Given the description of an element on the screen output the (x, y) to click on. 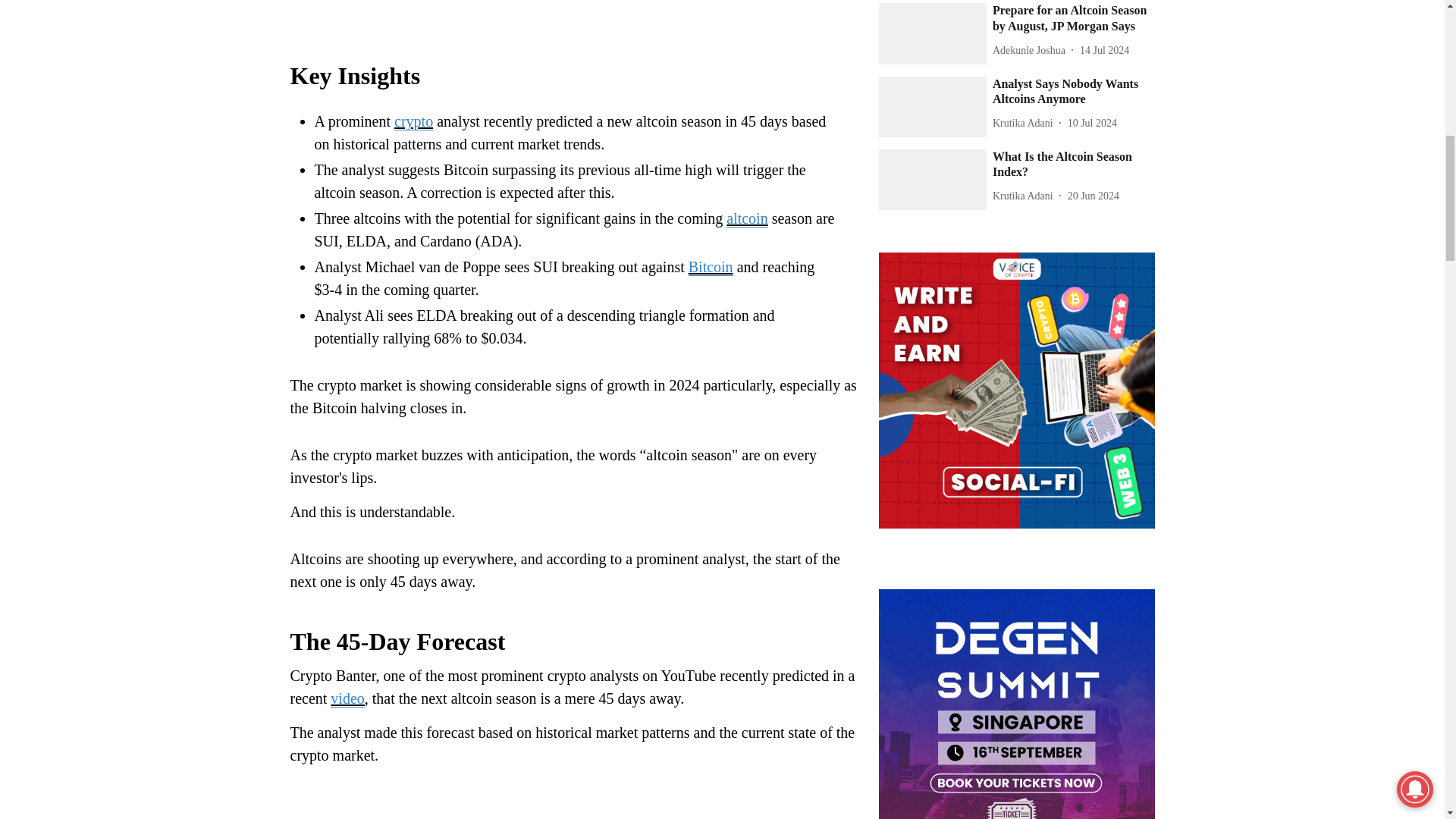
2024-06-20 11:30 (1093, 195)
altcoin (746, 218)
crypto (413, 121)
2024-07-14 11:11 (1104, 50)
Bitcoin (710, 267)
2024-07-10 13:00 (1091, 123)
video (347, 698)
